Given the description of an element on the screen output the (x, y) to click on. 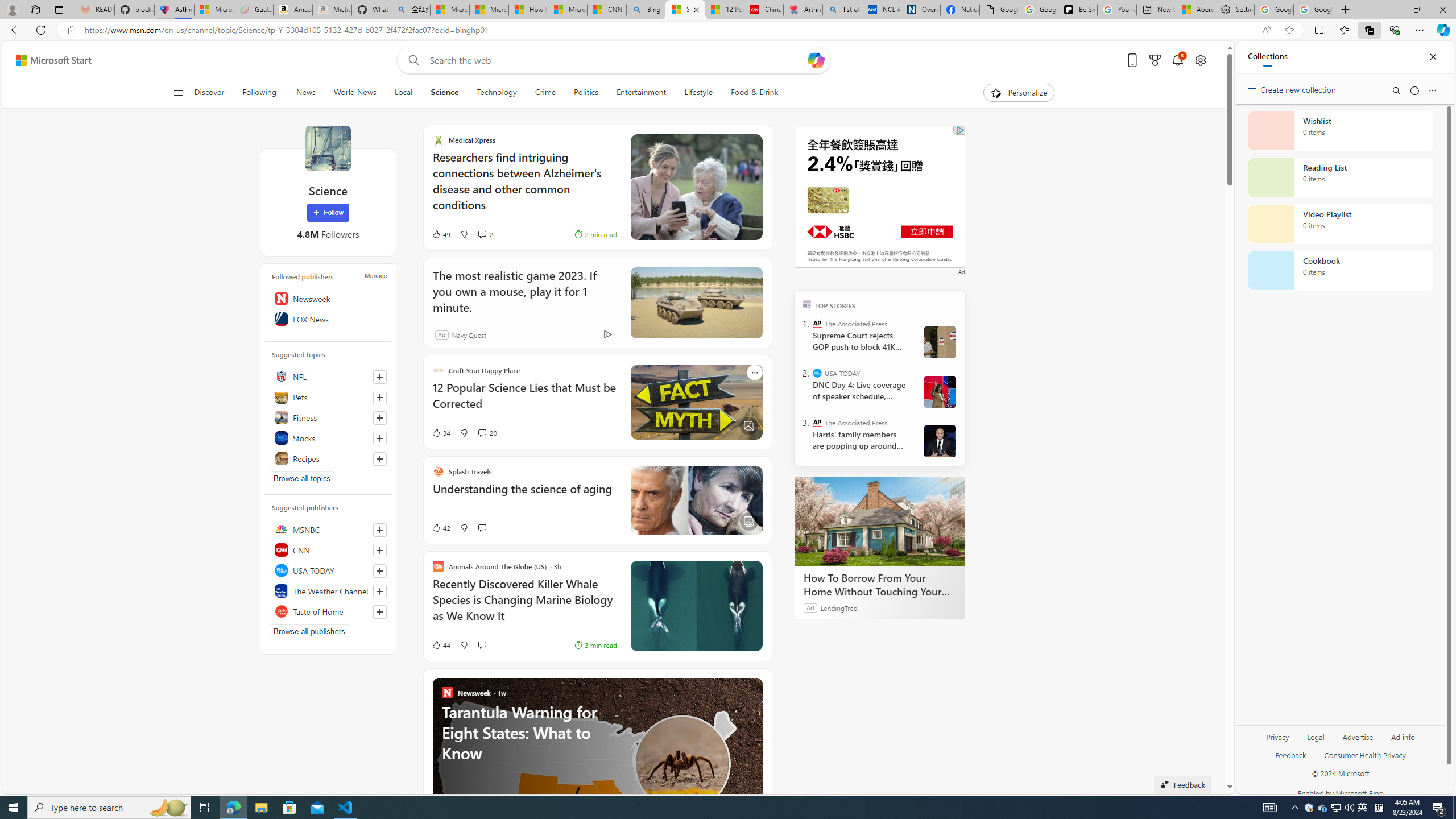
Science - MSN (685, 9)
Follow this source (379, 612)
Fitness (327, 417)
Entertainment (640, 92)
Aberdeen, Hong Kong SAR hourly forecast | Microsoft Weather (1195, 9)
Food & Drink (754, 92)
Bing (646, 9)
42 Like (427, 527)
Be Smart | creating Science videos | Patreon (1077, 9)
Class: qc-adchoices-link top-right  (959, 129)
Cookbook collection, 0 items (1339, 270)
